Given the description of an element on the screen output the (x, y) to click on. 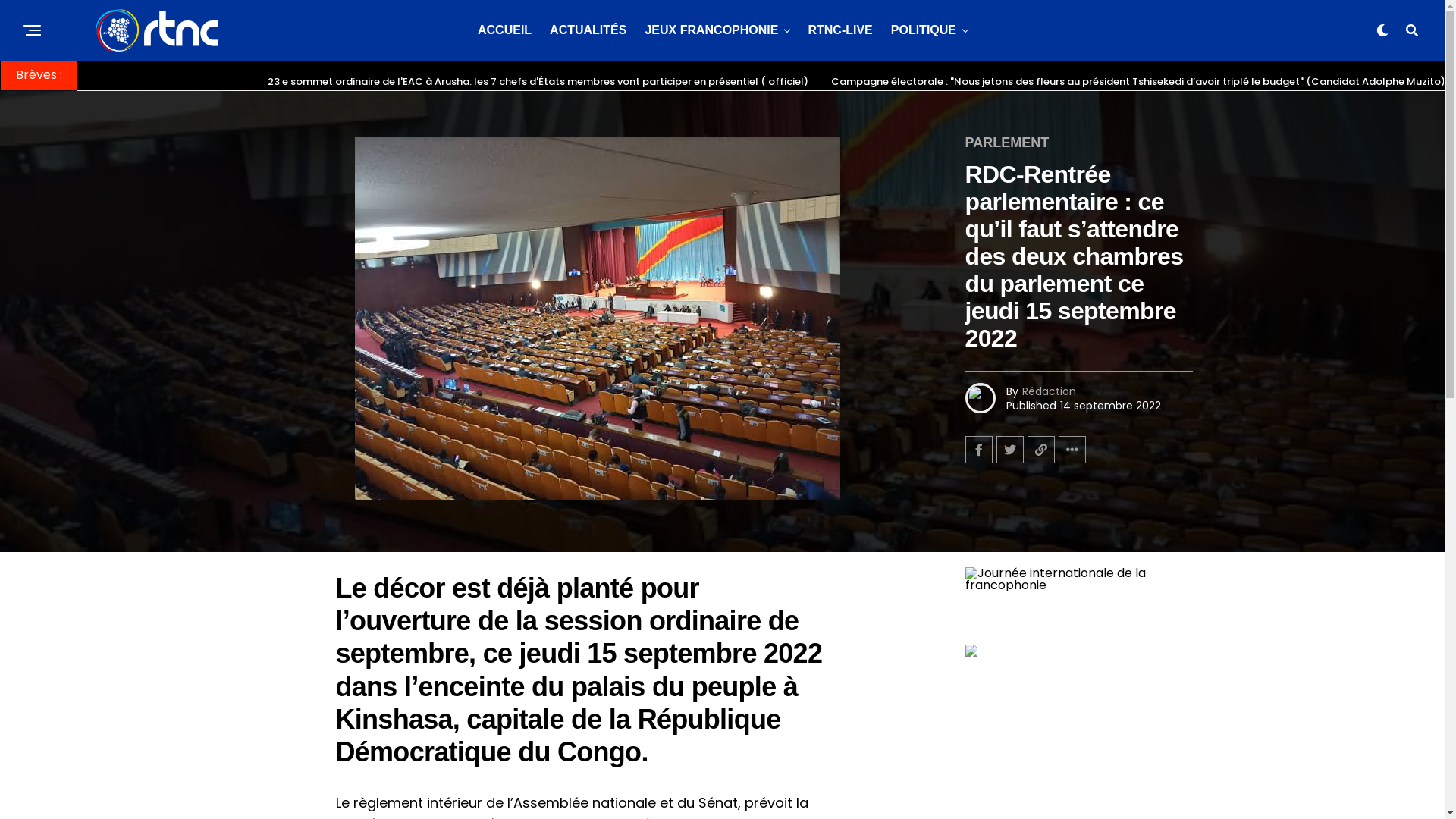
POLITIQUE Element type: text (923, 30)
PARLEMENT Element type: text (1006, 142)
RTNC-LIVE Element type: text (839, 30)
Tweet This Post Element type: hover (1009, 449)
ACCUEIL Element type: text (504, 30)
JT20H Element type: hover (970, 652)
Share on Facebook Element type: hover (977, 449)
JEUX FRANCOPHONIE Element type: text (711, 30)
